Given the description of an element on the screen output the (x, y) to click on. 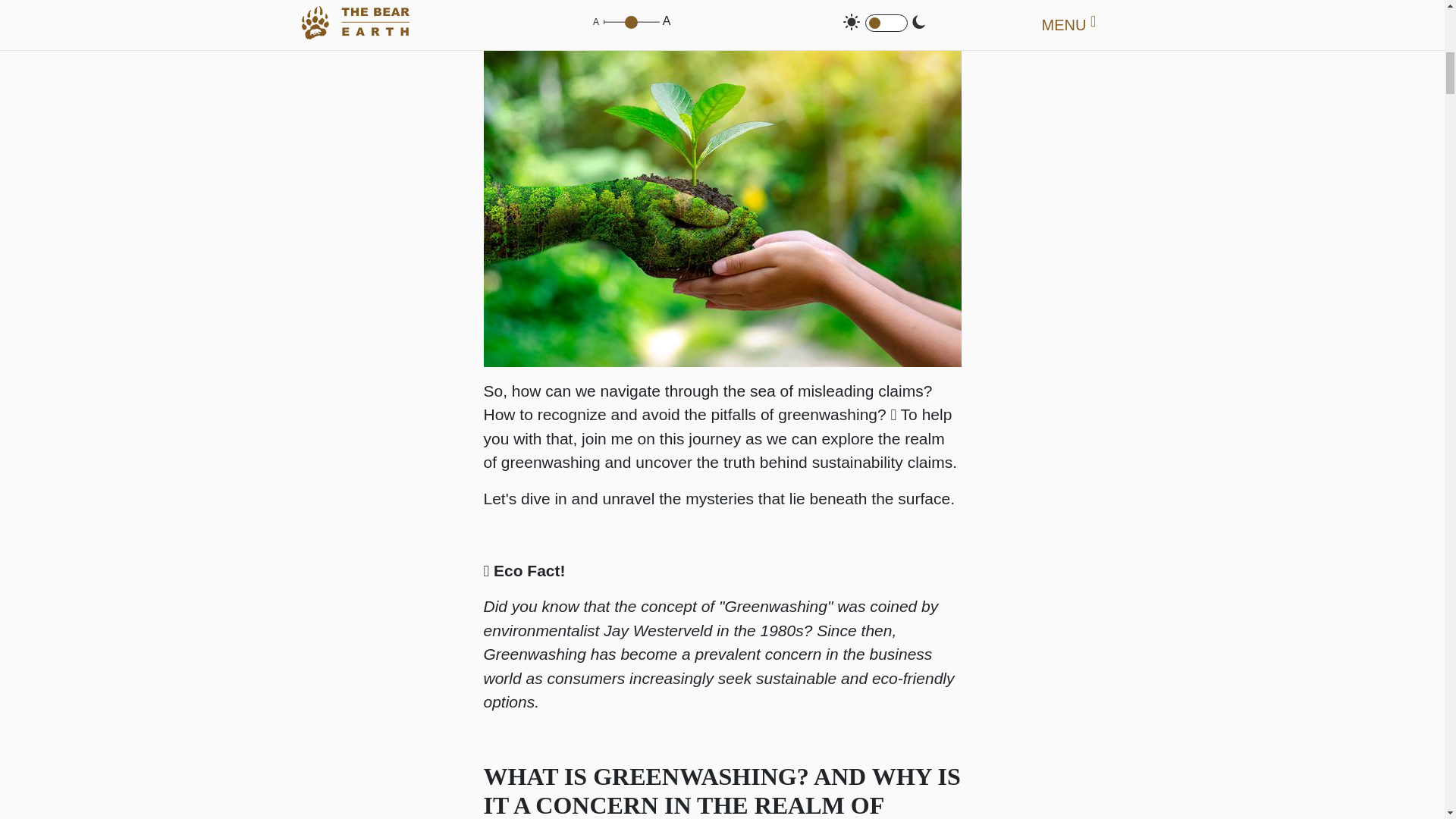
genuine sustainability efforts (650, 4)
